Given the description of an element on the screen output the (x, y) to click on. 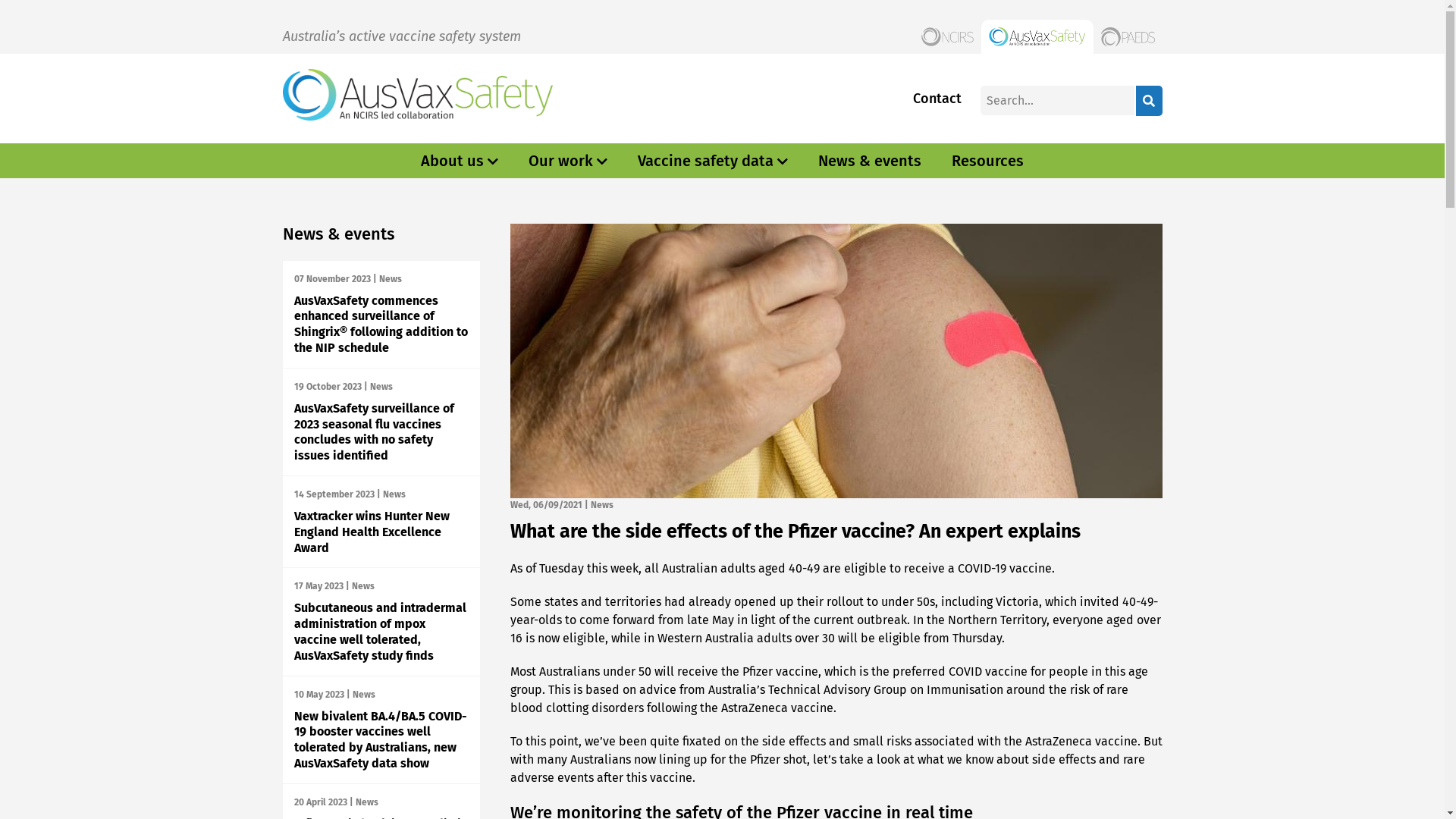
Vaccine safety data Element type: text (705, 160)
Contact Element type: text (937, 98)
Our work Element type: text (560, 160)
Resources Element type: text (987, 160)
News & events Element type: text (869, 160)
Skip to main content Element type: text (0, 0)
About us Element type: text (451, 160)
Search Element type: text (1148, 100)
Enter the terms you wish to search for. Element type: hover (1056, 100)
